Given the description of an element on the screen output the (x, y) to click on. 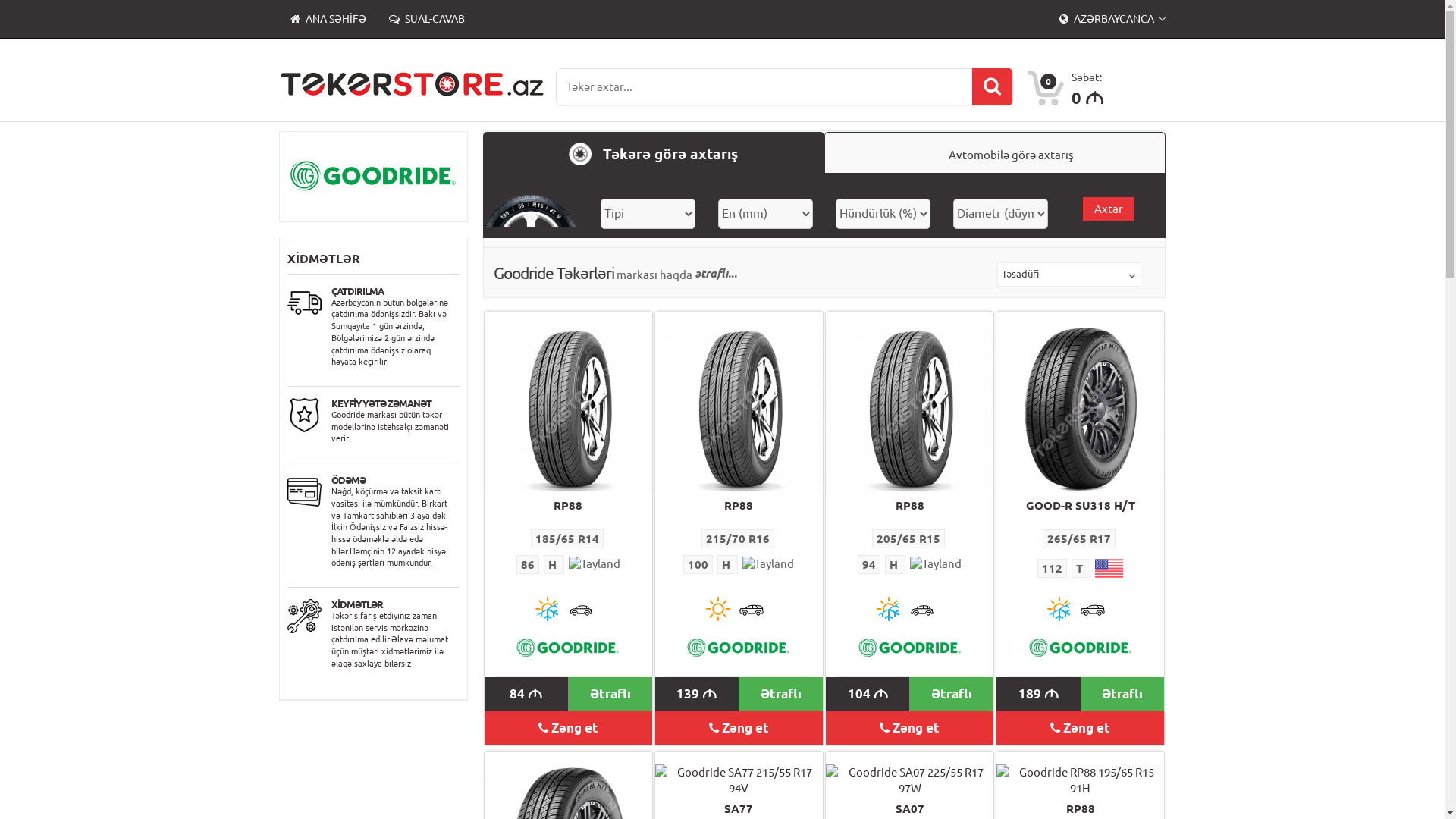
RP88 Element type: text (738, 504)
Goodride RP88 195/65 R15 91H Element type: hover (1080, 780)
Goodride RP88 195/65 R15 91H Element type: hover (1080, 774)
Goodride SU318 H/T 265/65 R17 112T Element type: hover (1080, 408)
Goodride RP88 185/65 R14 86H Element type: hover (568, 402)
Goodride RP88 215/70 R16 100H Element type: hover (738, 408)
Goodride RP88 205/65 R15 94H Element type: hover (909, 402)
Goodride SA77 215/55 R17 94V Element type: hover (738, 774)
RP88 Element type: text (567, 504)
SA77 Element type: text (738, 808)
SA07 Element type: text (909, 808)
SUAL-CAVAB Element type: text (426, 18)
GOOD-R SU318 H/T Element type: text (1080, 504)
Goodride SA07 225/55 R17 97W Element type: hover (909, 780)
Goodride SA77 215/55 R17 94V Element type: hover (738, 780)
RP88 Element type: text (909, 504)
RP88 Element type: text (1080, 808)
Axtar Element type: text (1108, 208)
Goodride SA07 225/55 R17 97W Element type: hover (909, 774)
Goodride SU318 H/T 265/65 R17 112T Element type: hover (1080, 402)
Goodride RP88 215/70 R16 100H Element type: hover (738, 402)
Goodride RP88 205/65 R15 94H Element type: hover (909, 408)
Goodride RP88 185/65 R14 86H Element type: hover (568, 408)
